Given the description of an element on the screen output the (x, y) to click on. 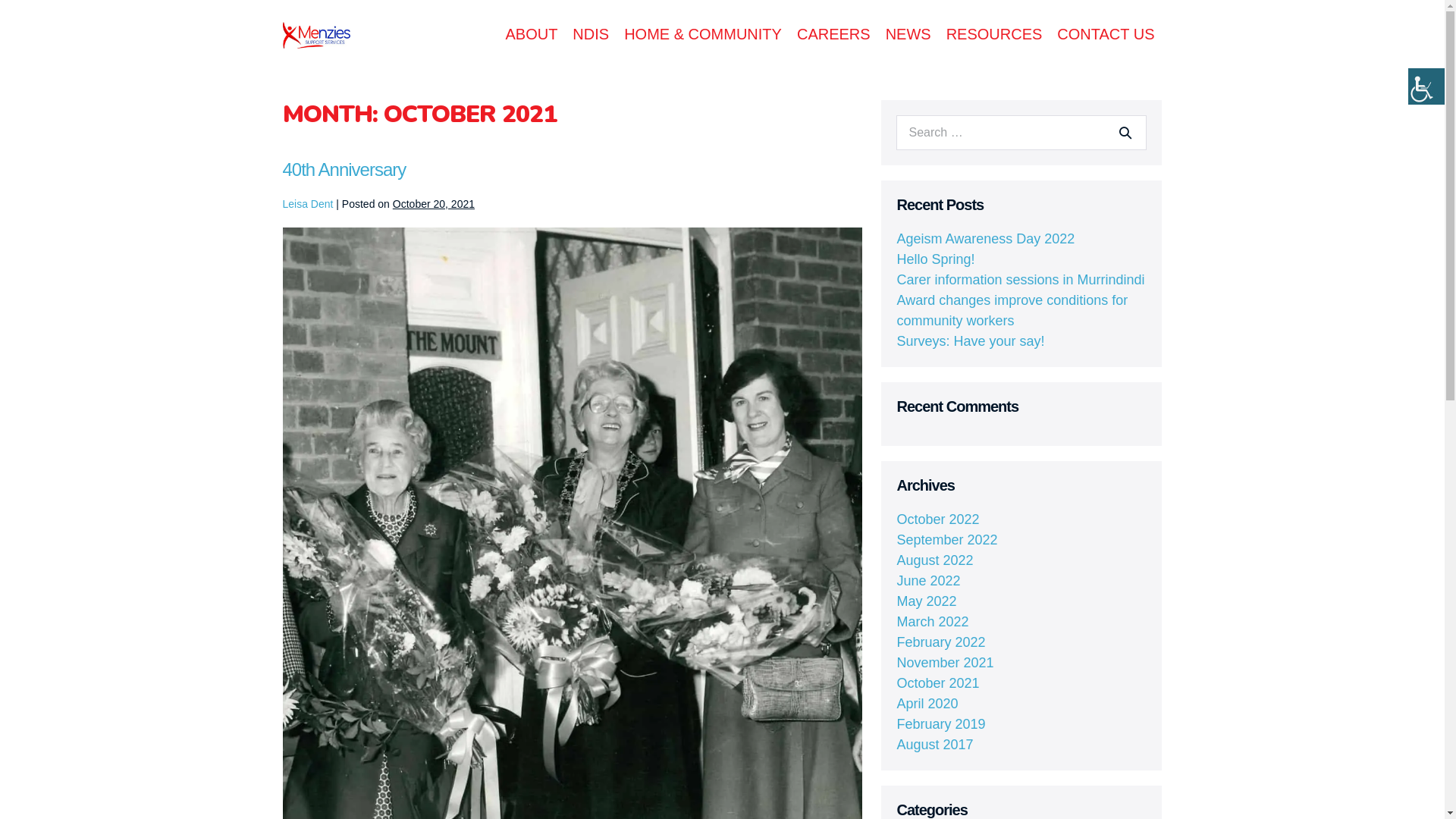
February 2019 Element type: text (940, 723)
September 2022 Element type: text (946, 539)
Hello Spring! Element type: text (935, 258)
August 2022 Element type: text (934, 559)
Ageism Awareness Day 2022 Element type: text (985, 238)
RESOURCES Element type: text (994, 34)
Leisa Dent Element type: text (307, 203)
Press enter to search Element type: hover (1021, 132)
CAREERS Element type: text (833, 34)
Menzies Support Services Element type: hover (315, 34)
HOME & COMMUNITY Element type: text (702, 34)
August 2017 Element type: text (934, 744)
Accessibility Helper sidebar Element type: hover (1426, 86)
40th Anniversary Element type: text (343, 169)
February 2022 Element type: text (940, 641)
March 2022 Element type: text (932, 621)
June 2022 Element type: text (928, 580)
October 2022 Element type: text (937, 519)
November 2021 Element type: text (944, 662)
ABOUT Element type: text (530, 34)
CONTACT US Element type: text (1105, 34)
Award changes improve conditions for community workers Element type: text (1011, 310)
NDIS Element type: text (590, 34)
Surveys: Have your say! Element type: text (970, 340)
October 2021 Element type: text (937, 682)
May 2022 Element type: text (926, 600)
Carer information sessions in Murrindindi Element type: text (1020, 279)
NEWS Element type: text (908, 34)
Search Element type: text (1125, 132)
April 2020 Element type: text (926, 703)
